Given the description of an element on the screen output the (x, y) to click on. 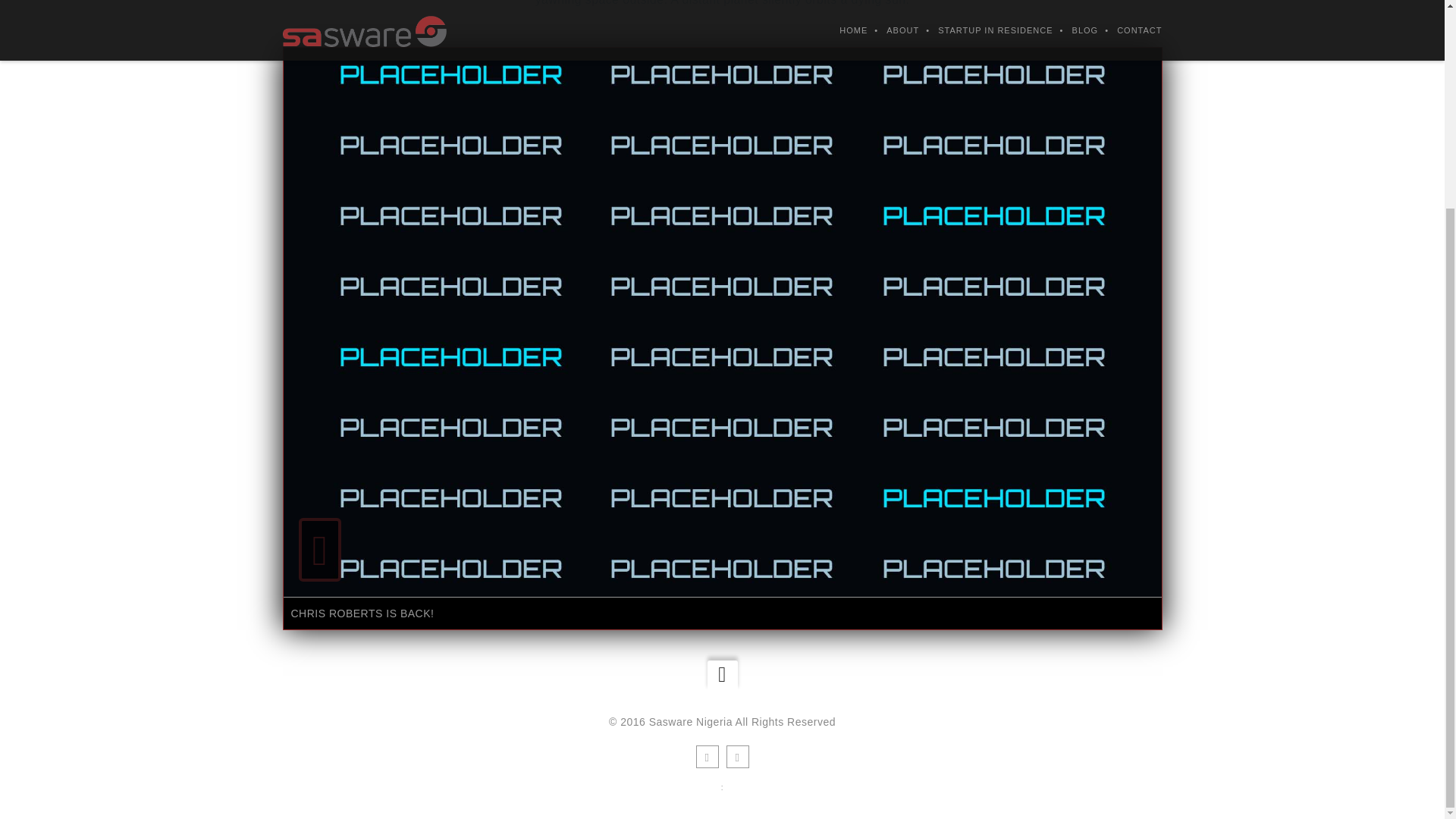
Twitter (737, 756)
Facebook (707, 756)
